Given the description of an element on the screen output the (x, y) to click on. 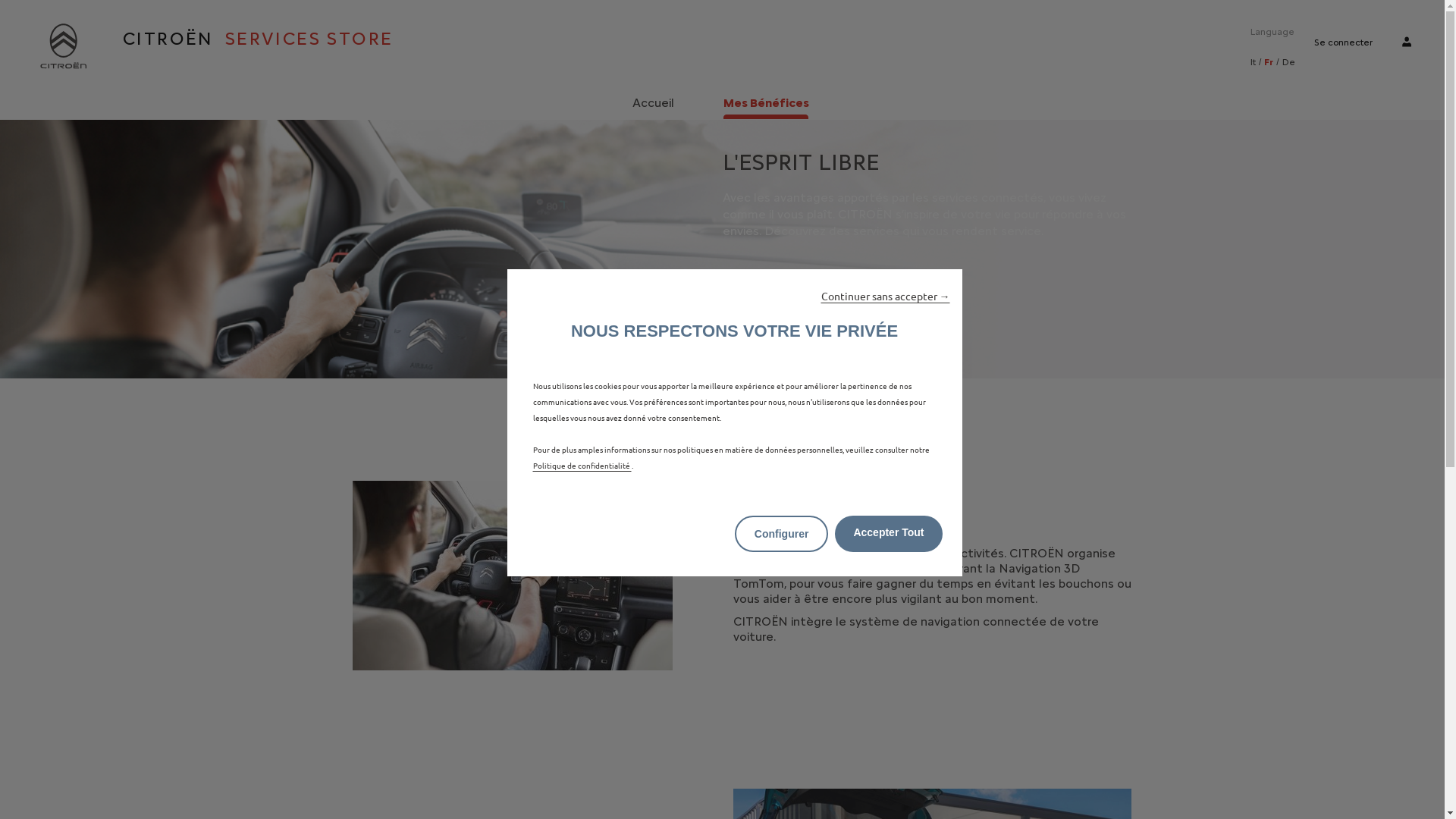
De Element type: text (1288, 61)
Skip to main content Element type: text (0, 0)
Se connecter Element type: text (1343, 42)
SERVICES STORE Element type: text (303, 38)
Accueil Element type: text (652, 101)
Home Element type: hover (62, 46)
Configurer Element type: text (781, 533)
It Element type: text (1252, 61)
Accepter Tout Element type: text (887, 533)
Home Element type: hover (62, 46)
Vivez Element type: hover (512, 575)
Fr Element type: text (1268, 61)
